Given the description of an element on the screen output the (x, y) to click on. 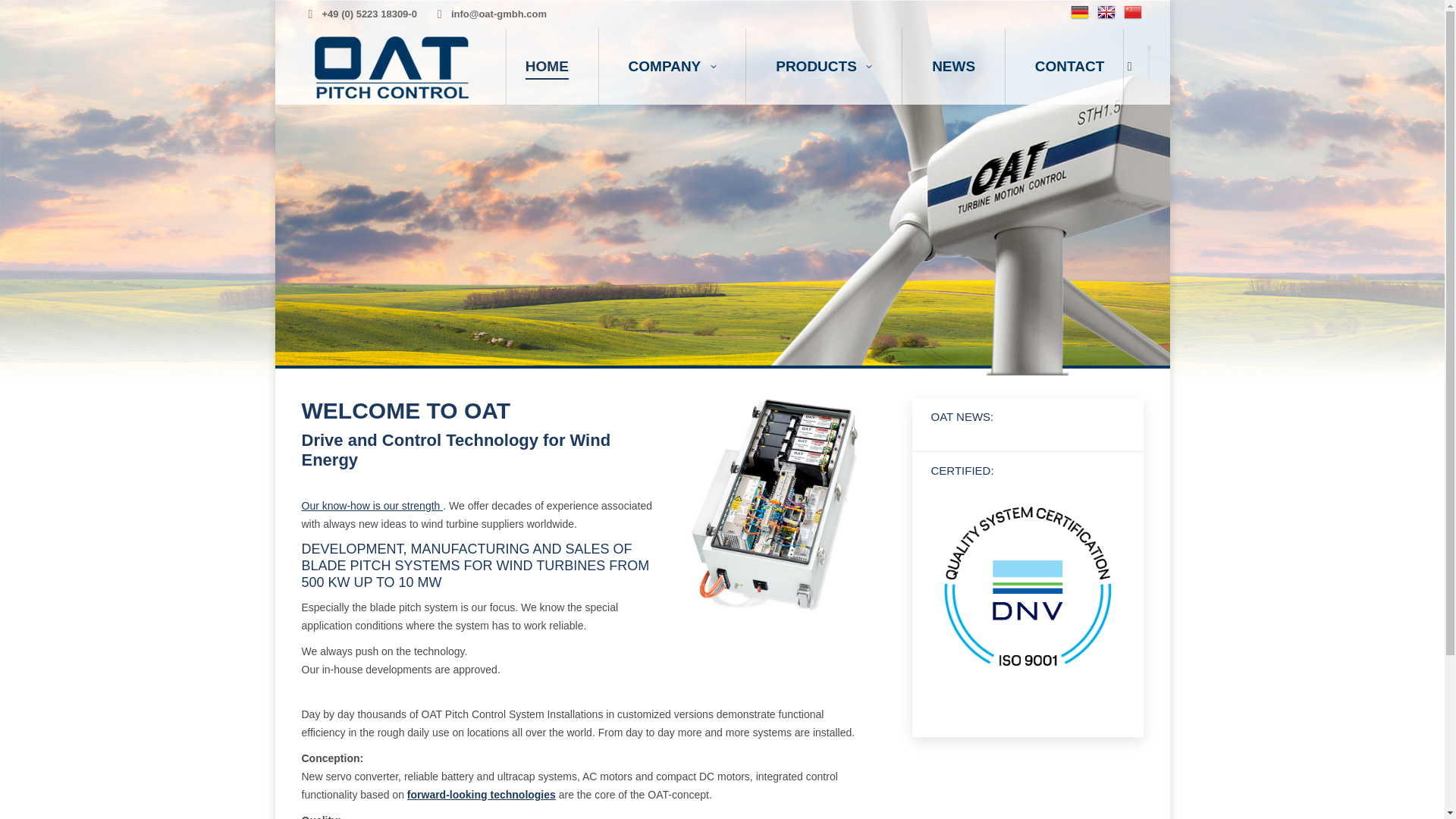
Go! (24, 16)
PRODUCTS   (824, 65)
NEWS (953, 65)
HOME (547, 65)
CONTACT (1068, 65)
COMPANY   (671, 65)
